Given the description of an element on the screen output the (x, y) to click on. 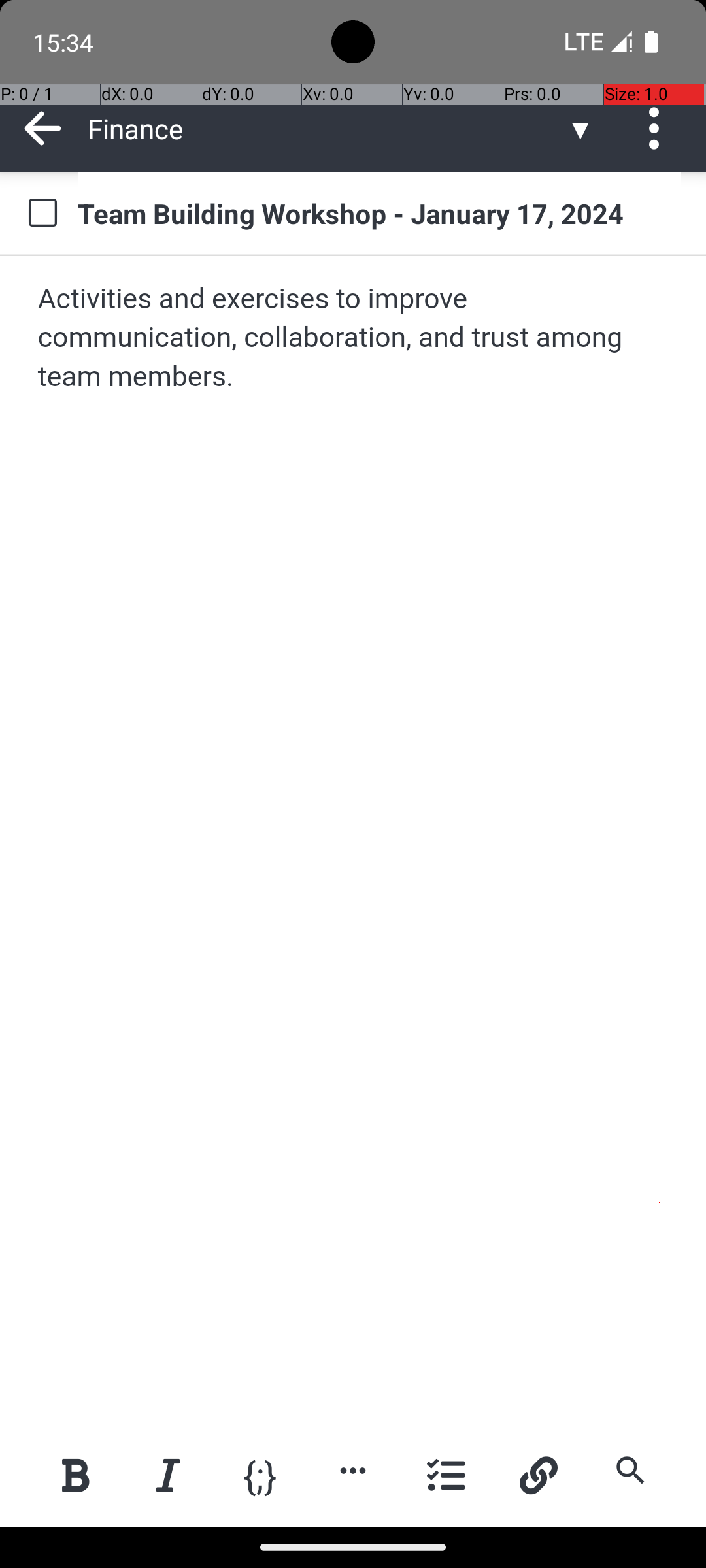
Team Building Workshop - January 17, 2024 Element type: android.widget.EditText (378, 213)
Show more actions Element type: android.widget.Button (352, 1470)
Find and replace Element type: android.widget.Button (630, 1470)
Finance Element type: android.widget.TextView (326, 128)
Activities and exercises to improve communication, collaboration, and trust among team members. Element type: android.widget.EditText (354, 338)
